Given the description of an element on the screen output the (x, y) to click on. 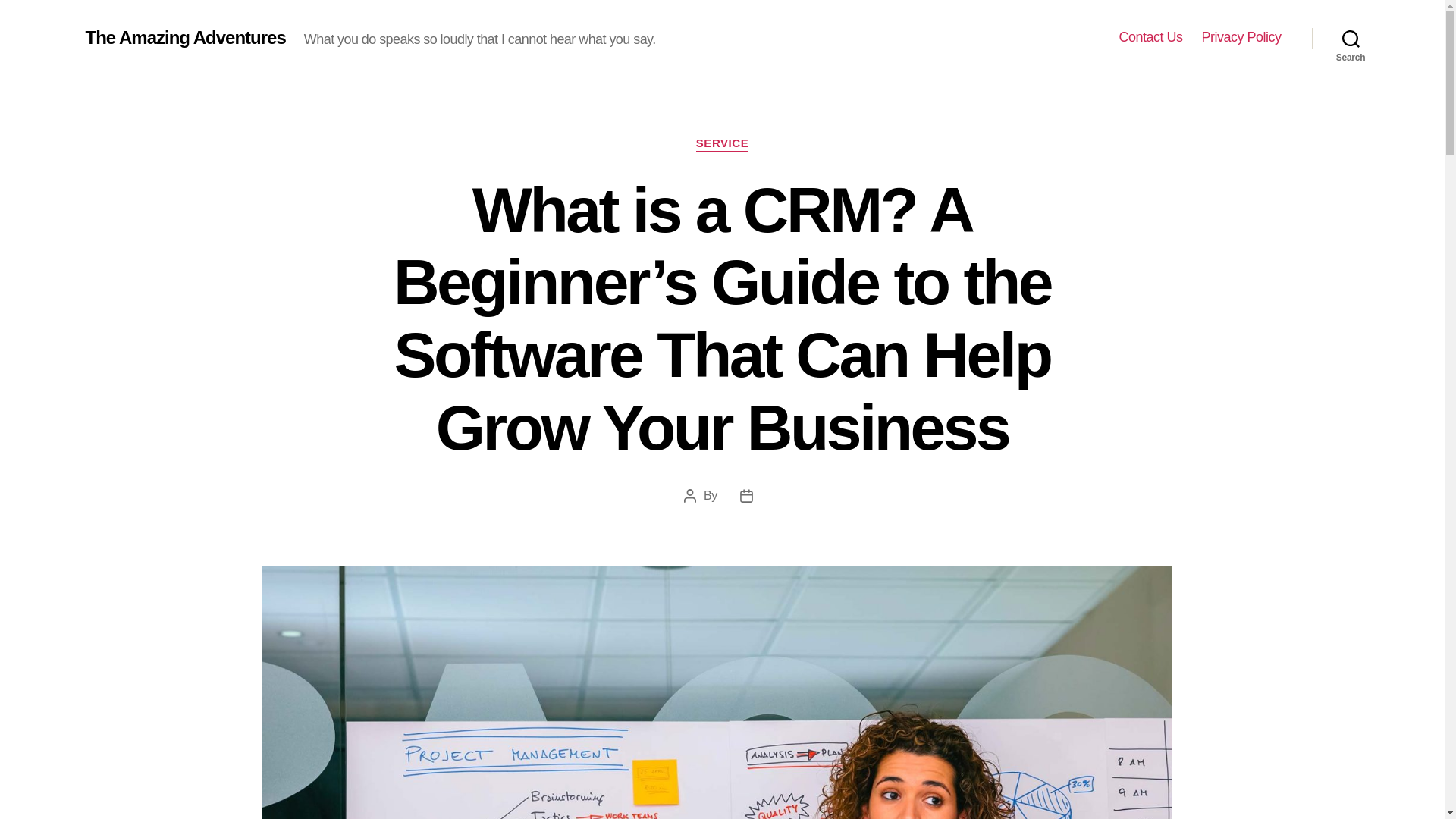
Privacy Policy (1241, 37)
SERVICE (721, 143)
Search (1350, 37)
The Amazing Adventures (184, 37)
Contact Us (1150, 37)
